Given the description of an element on the screen output the (x, y) to click on. 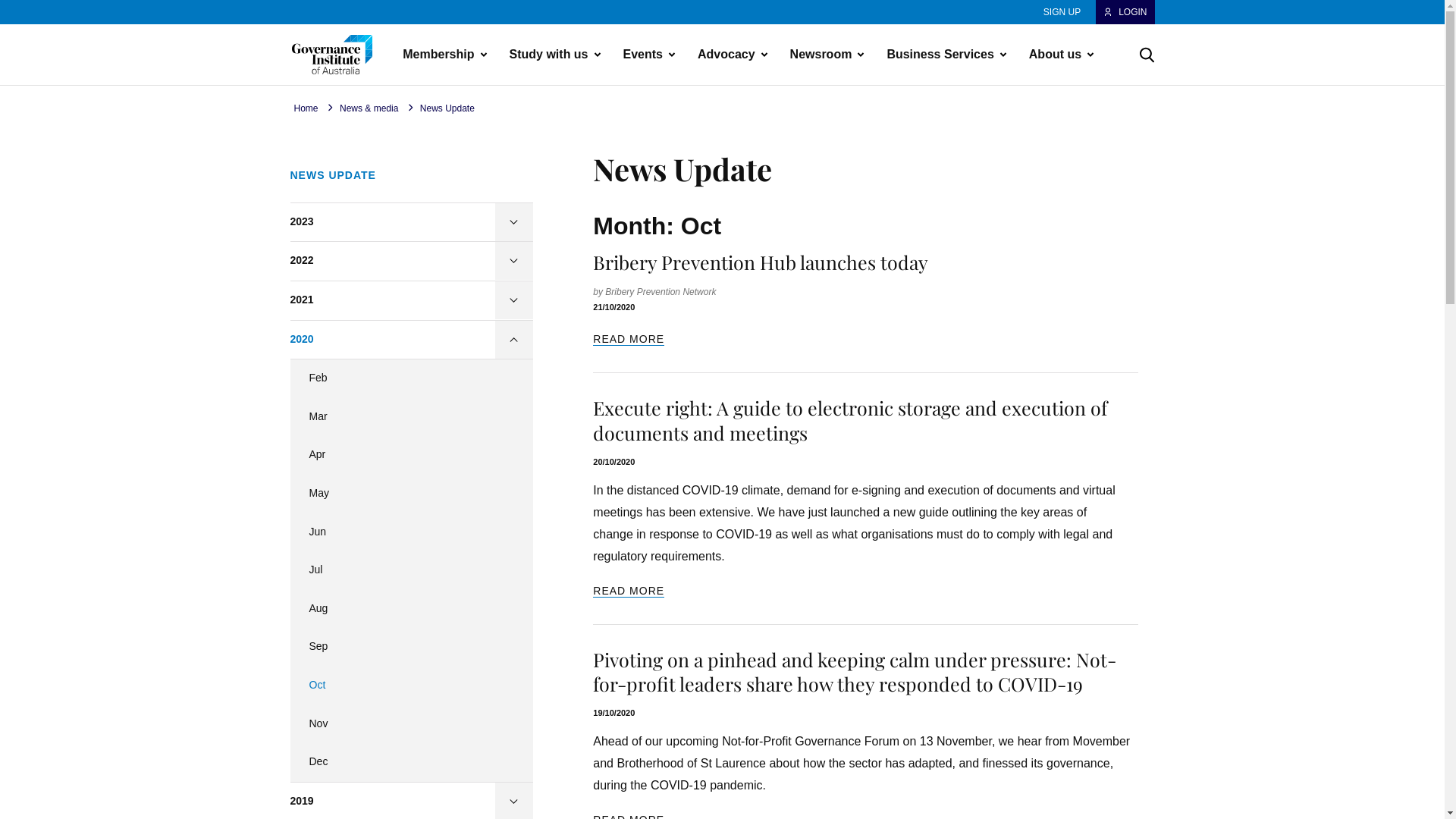
Membership Element type: text (439, 54)
2021 Element type: text (410, 300)
LOGIN Element type: text (1124, 12)
Business Services Element type: text (941, 54)
Sep Element type: text (410, 646)
READ MORE Element type: text (628, 590)
NEWS UPDATE Element type: text (410, 176)
Aug Element type: text (410, 608)
Oct Element type: text (410, 685)
Feb Element type: text (410, 378)
2022 Element type: text (410, 261)
Home Element type: text (306, 108)
2020 Element type: text (410, 340)
READ MORE Element type: text (628, 338)
Nov Element type: text (410, 724)
Dec Element type: text (410, 762)
Newsroom Element type: text (822, 54)
Jul Element type: text (410, 570)
Advocacy Element type: text (727, 54)
Bribery Prevention Hub launches today Element type: text (760, 261)
SIGN UP Element type: text (1061, 12)
Jun Element type: text (410, 532)
News & media Element type: text (368, 108)
Events Element type: text (644, 54)
Mar Element type: text (410, 417)
Apr Element type: text (410, 455)
About us Element type: text (1056, 54)
2023 Element type: text (410, 222)
May Element type: text (410, 493)
Study with us Element type: text (550, 54)
